Given the description of an element on the screen output the (x, y) to click on. 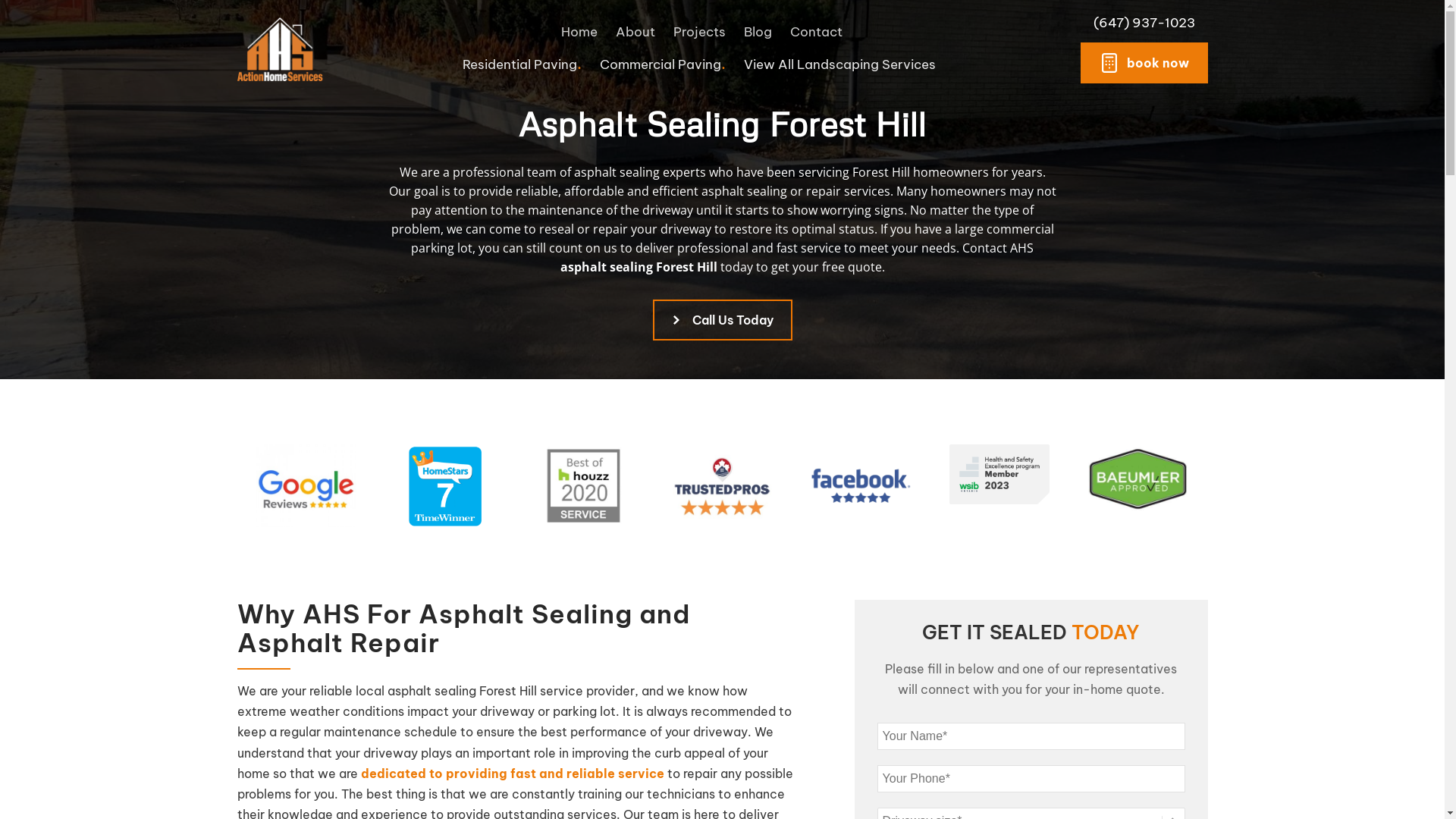
Asphalt Sealing Pricing Element type: text (1045, 135)
Residential Asphalt Repair Element type: text (413, 164)
Residential Paving Element type: text (521, 62)
Blog Element type: text (757, 31)
  Element type: text (444, 485)
About Element type: text (635, 31)
Asphalt Paving Contractors Element type: text (736, 135)
View All Landscaping Services Element type: text (841, 62)
Driveway Sealing Element type: text (413, 135)
Call Us Today Element type: text (721, 319)
Home Element type: text (579, 31)
Projects Element type: text (699, 31)
book now Element type: text (1143, 62)
Asphalt Repair Element type: text (736, 164)
(647) 937-1023 Element type: text (1144, 22)
baeumler approved ahs Element type: hover (1138, 477)
Commercial Paving Element type: text (662, 62)
Contact Element type: text (816, 31)
